Given the description of an element on the screen output the (x, y) to click on. 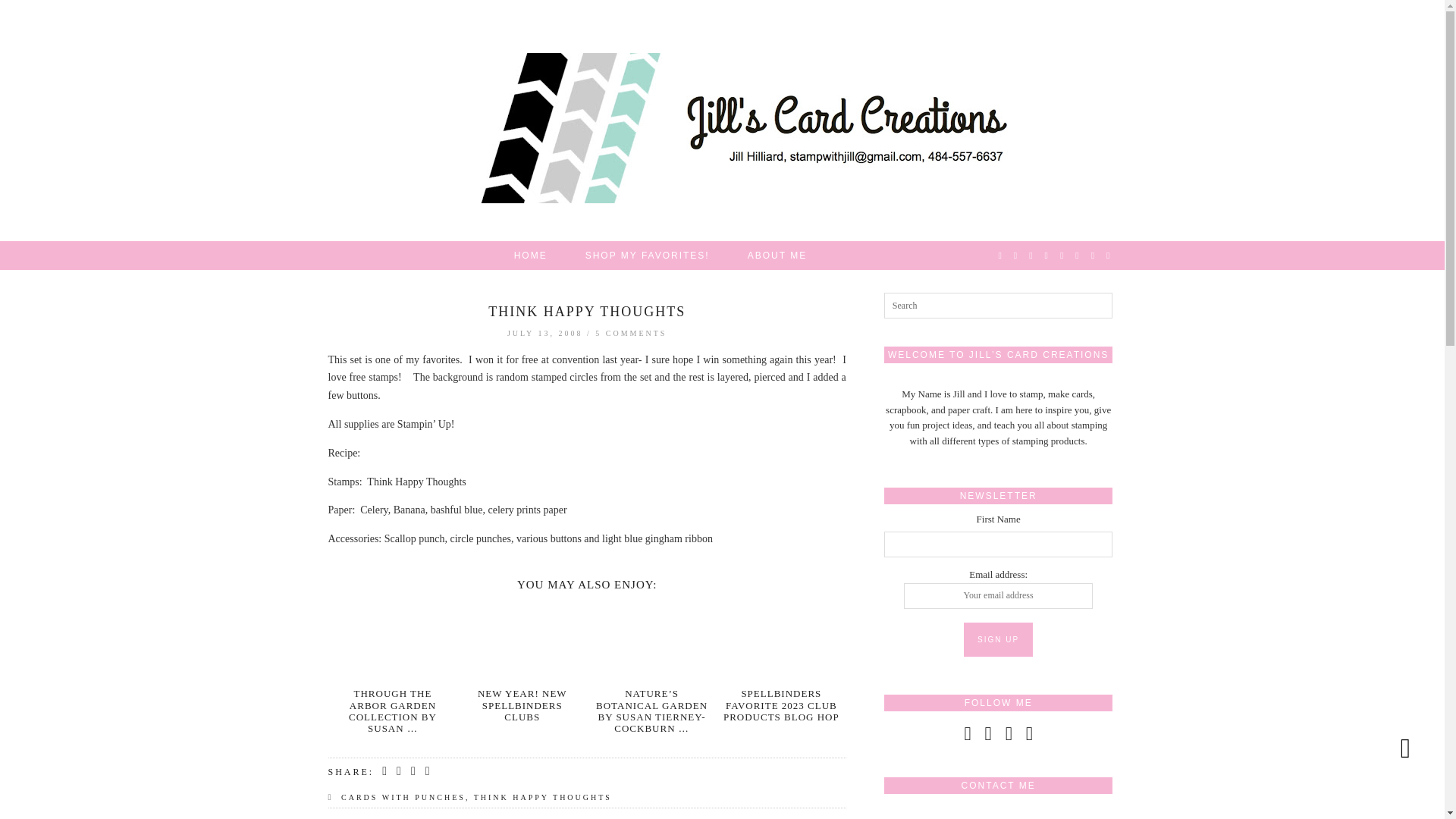
SHOP MY FAVORITES! (647, 255)
NEW YEAR! NEW SPELLBINDERS Clubs (522, 640)
HOME (530, 255)
Sign up (997, 639)
Jill's Card Creations (722, 128)
ABOUT ME (777, 255)
SPELLBINDERS FAVORITE 2023 CLUB PRODUCTS BLOG HOP (781, 704)
5 COMMENTS (630, 333)
THINK HAPPY THOUGHTS (542, 797)
